Given the description of an element on the screen output the (x, y) to click on. 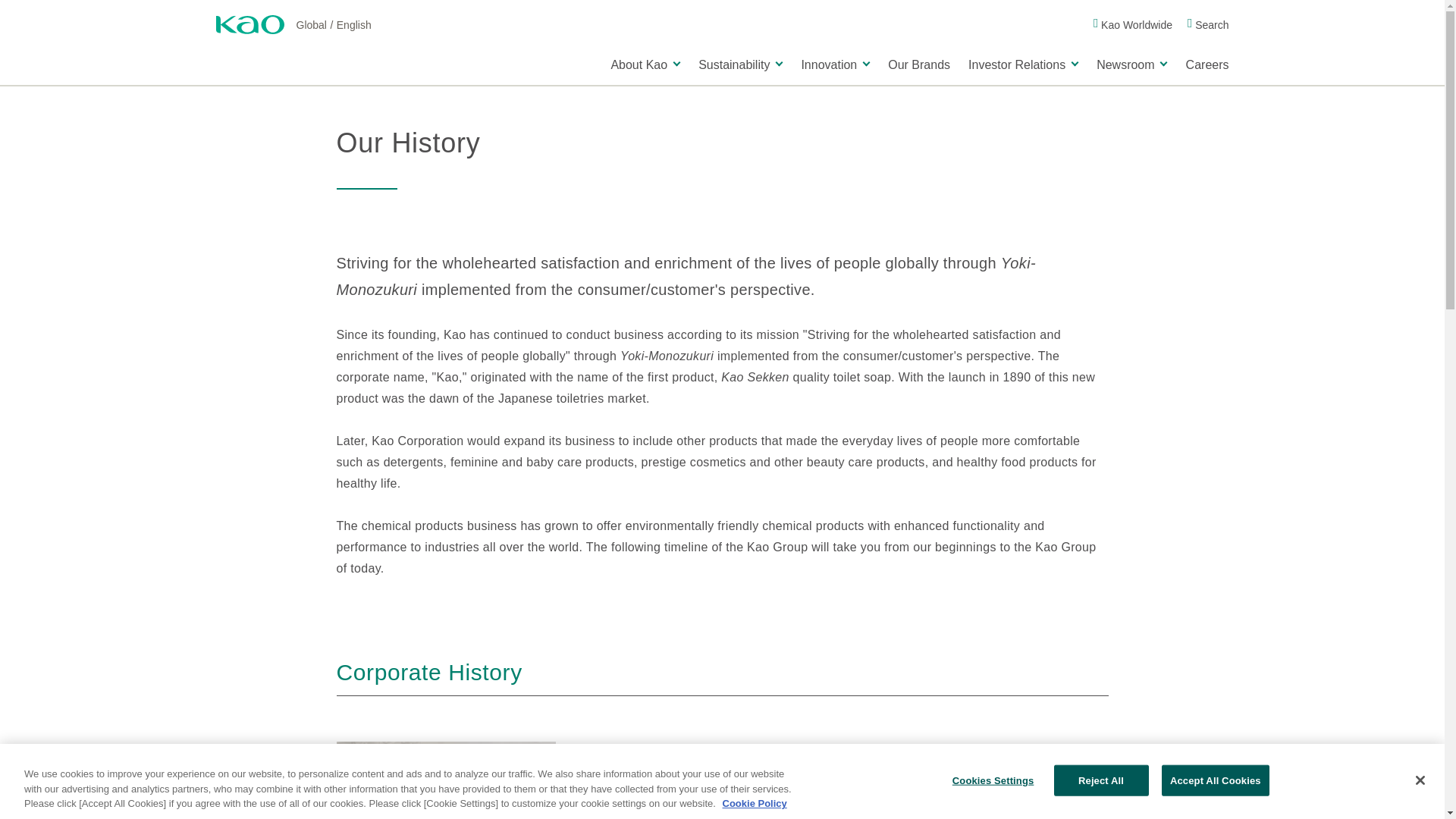
About Kao (644, 63)
Sustainability (740, 63)
Kao Worldwide (1132, 24)
Search (1208, 24)
